Given the description of an element on the screen output the (x, y) to click on. 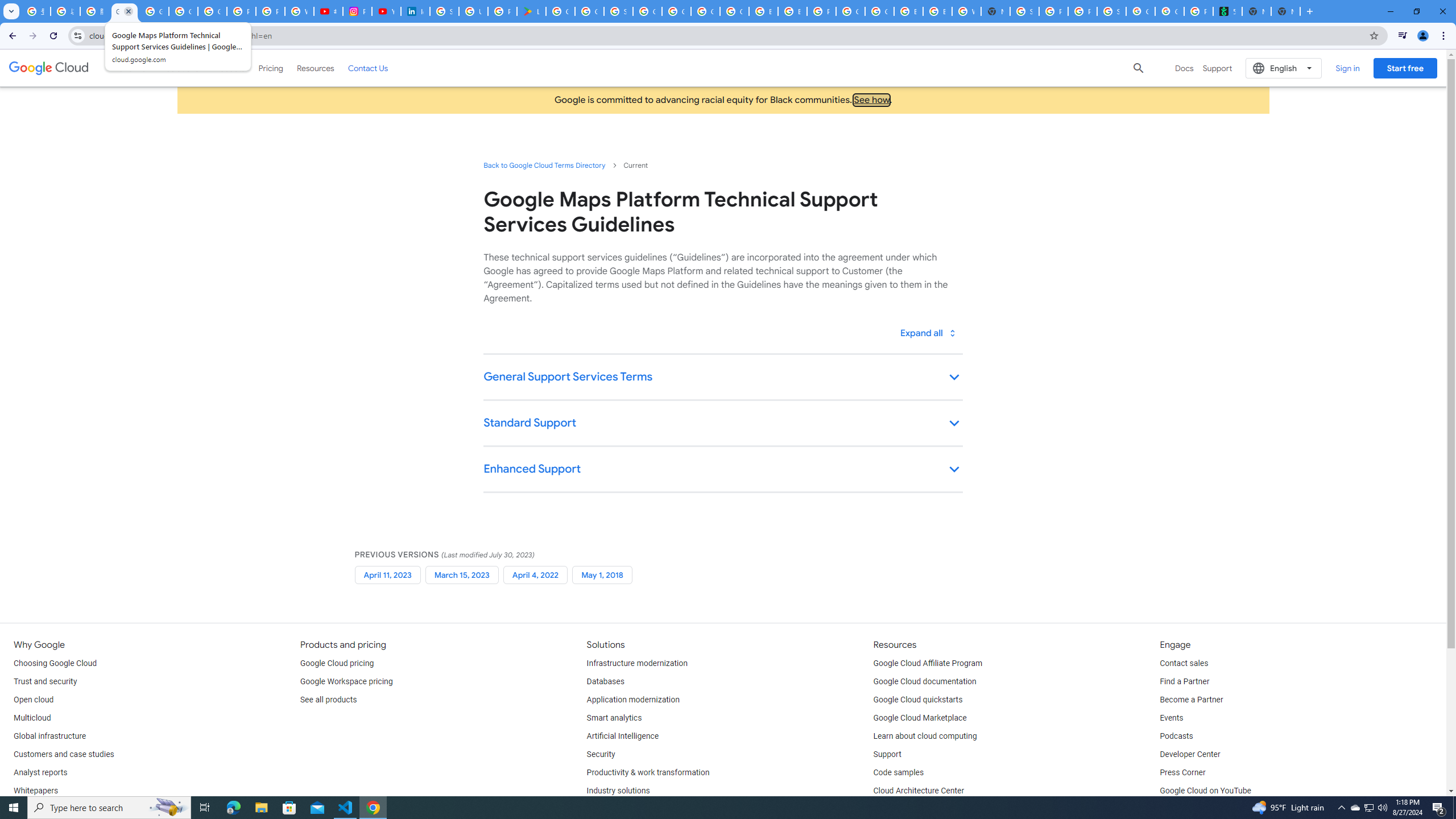
Google Cloud Platform (675, 11)
Google Cloud pricing (336, 663)
Solutions (181, 67)
Browse Chrome as a guest - Computer - Google Chrome Help (792, 11)
Code samples (898, 773)
Contact Us (368, 67)
April 4, 2022 (534, 574)
YouTube Culture & Trends - On The Rise: Handcam Videos (386, 11)
